Given the description of an element on the screen output the (x, y) to click on. 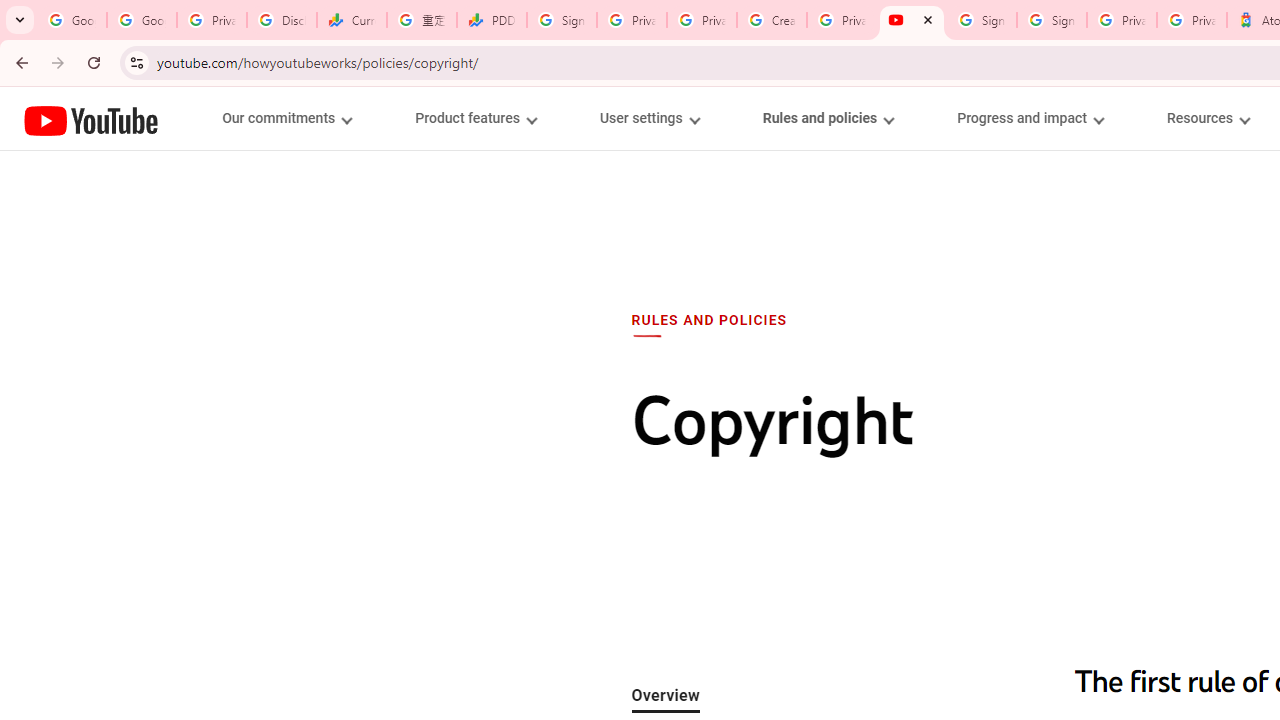
Resources menupopup (1208, 118)
Rules and policies menupopup (827, 118)
Privacy Checkup (701, 20)
User settings menupopup (648, 118)
